Given the description of an element on the screen output the (x, y) to click on. 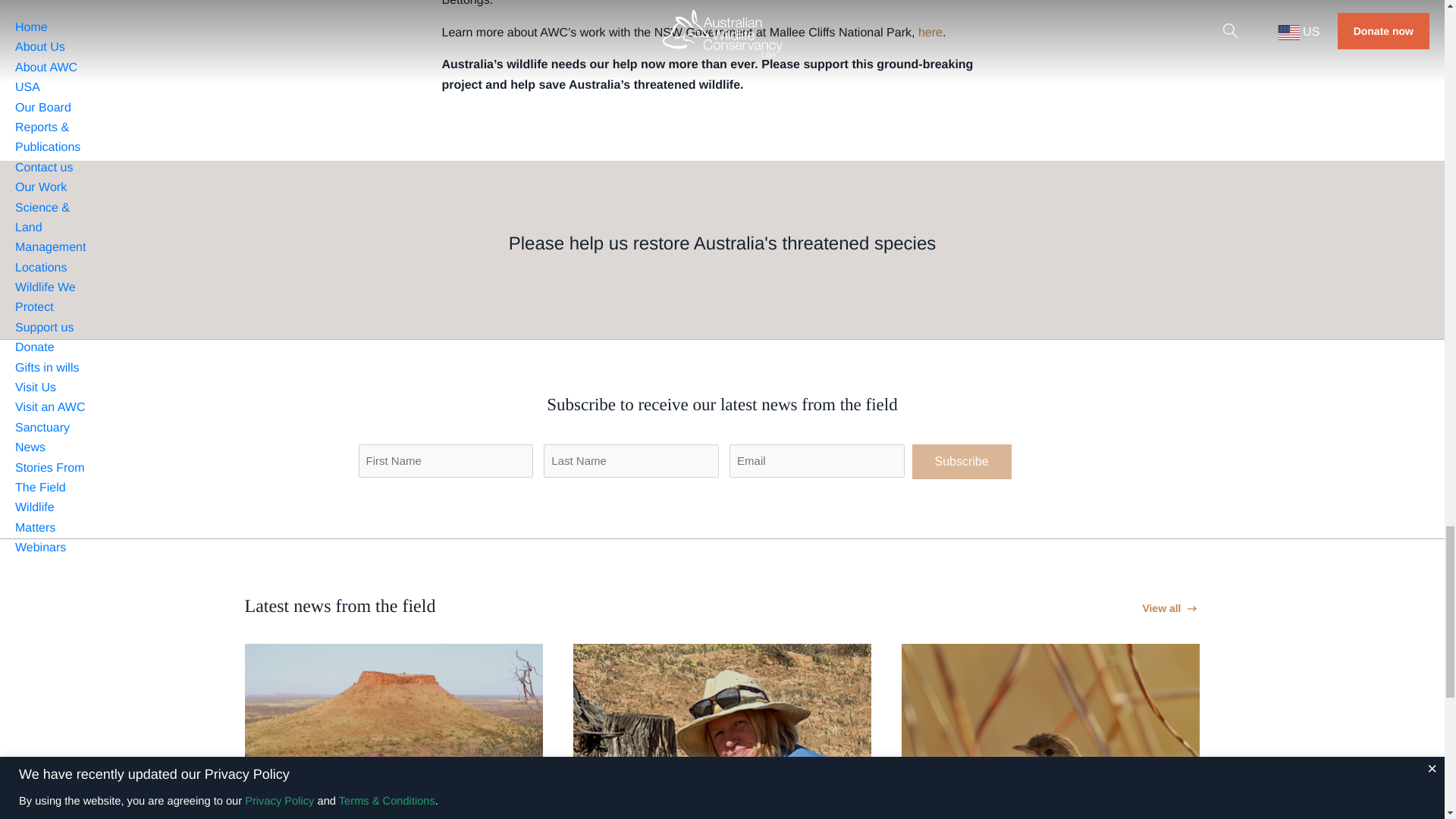
Subscribe (960, 461)
Subscribe (960, 461)
View all (1170, 608)
here (930, 32)
